Given the description of an element on the screen output the (x, y) to click on. 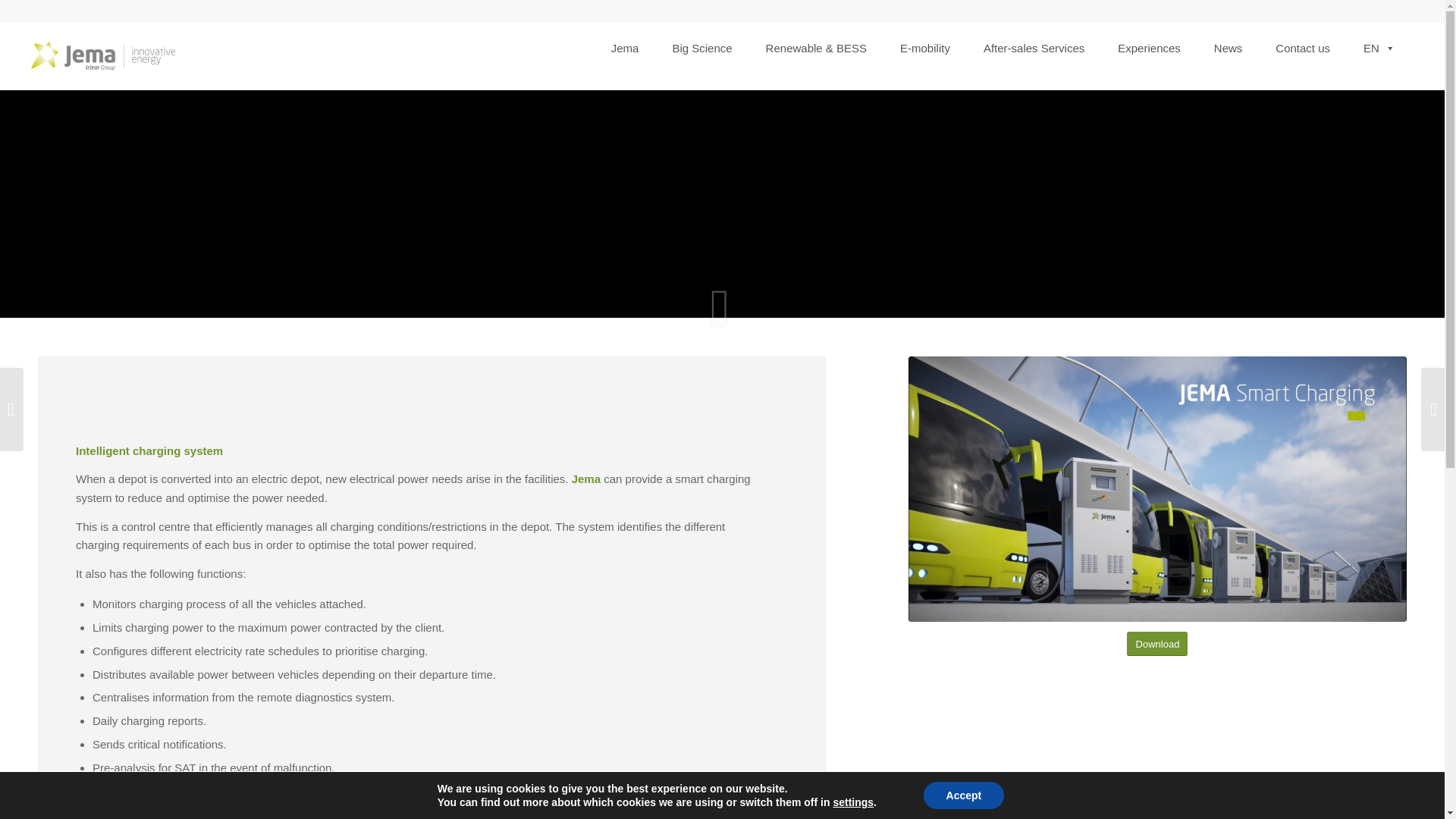
EN (1379, 40)
After-sales Services (1034, 40)
Big Science (701, 40)
Experiences (1149, 40)
Contact us (1302, 40)
News (1228, 40)
Smart Charging System (1157, 488)
Jema (625, 40)
Download (1157, 643)
E-mobility (924, 40)
